Given the description of an element on the screen output the (x, y) to click on. 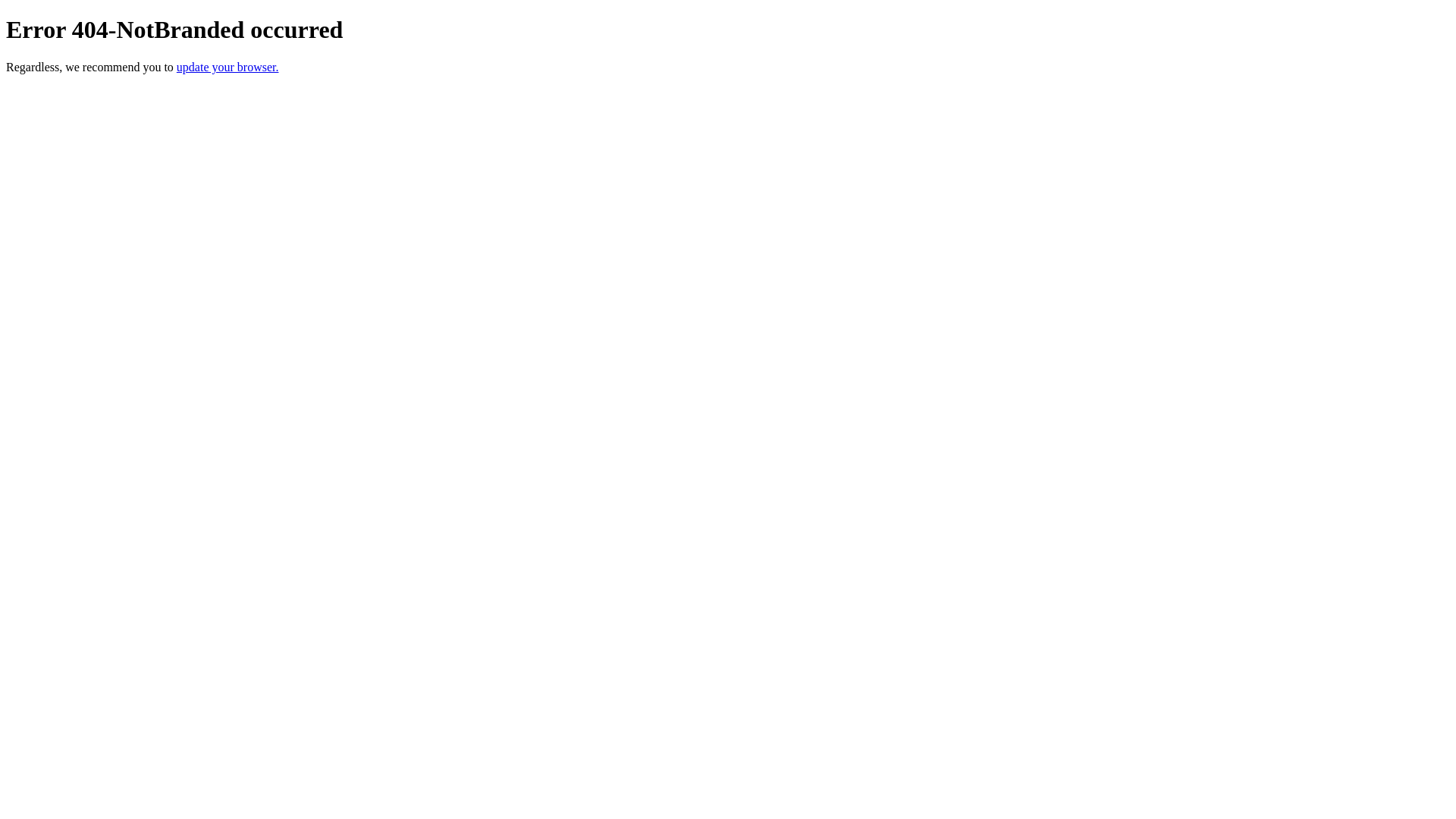
update your browser. Element type: text (227, 66)
